Given the description of an element on the screen output the (x, y) to click on. 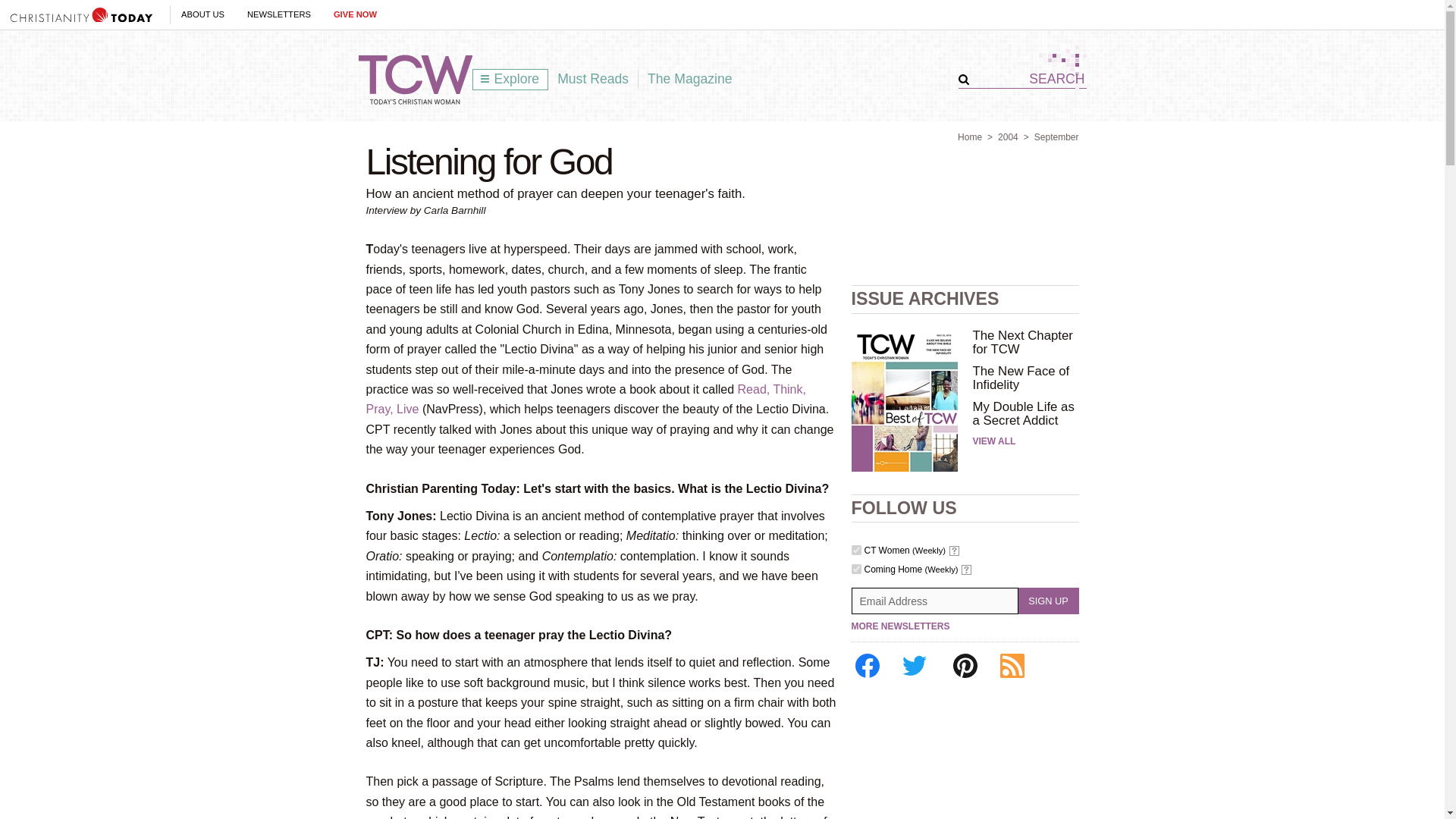
Today's Christian Woman (414, 79)
NEWSLETTERS (278, 14)
57 (855, 550)
Christianity Today (81, 14)
SEARCH (1027, 78)
GIVE NOW (355, 14)
Sign Up (1047, 601)
ABOUT US (202, 14)
45 (855, 569)
